Given the description of an element on the screen output the (x, y) to click on. 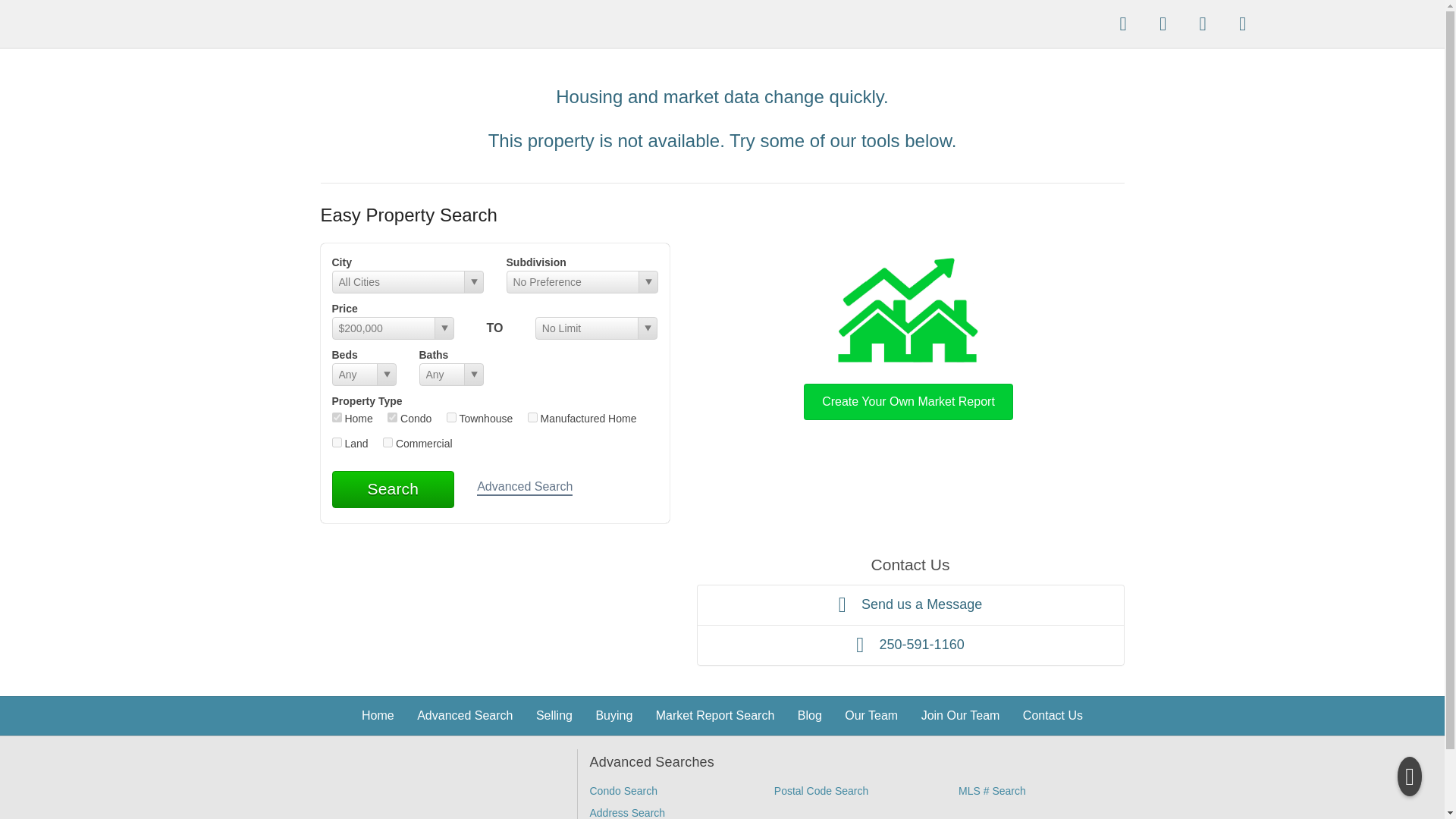
Create Your Own Market Report (908, 335)
Market Report Search (715, 715)
twn (451, 417)
Contact Us (1053, 715)
Search (392, 488)
Condo Search (623, 790)
Advanced Search (524, 487)
con (392, 417)
Postal Code Search (821, 790)
Buying (613, 715)
